Given the description of an element on the screen output the (x, y) to click on. 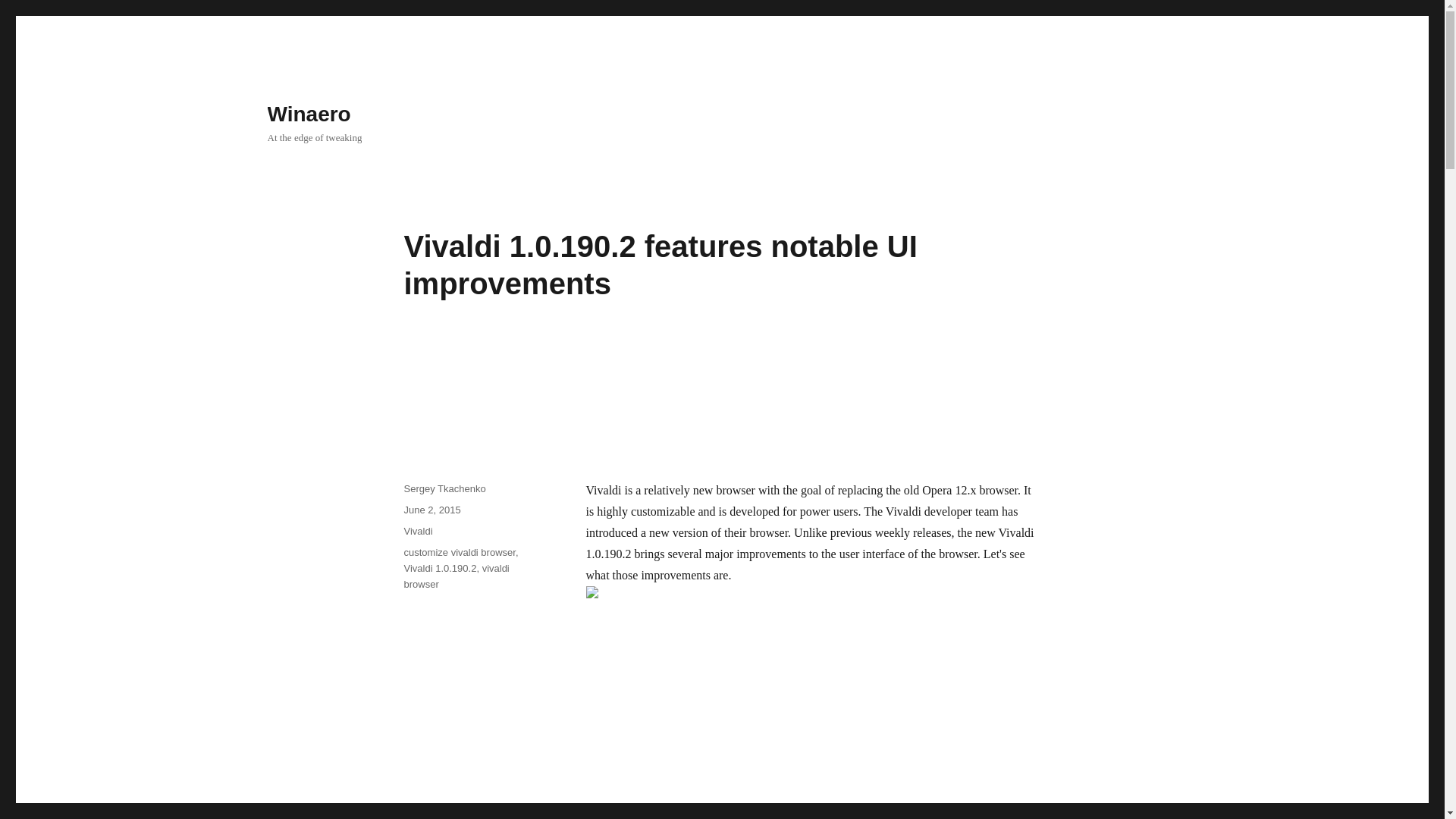
Sergey Tkachenko (443, 488)
vivaldi browser (455, 575)
Winaero (308, 114)
Vivaldi 1.0.190.2 (439, 568)
Vivaldi (417, 531)
June 2, 2015 (431, 509)
customize vivaldi browser (459, 552)
